Given the description of an element on the screen output the (x, y) to click on. 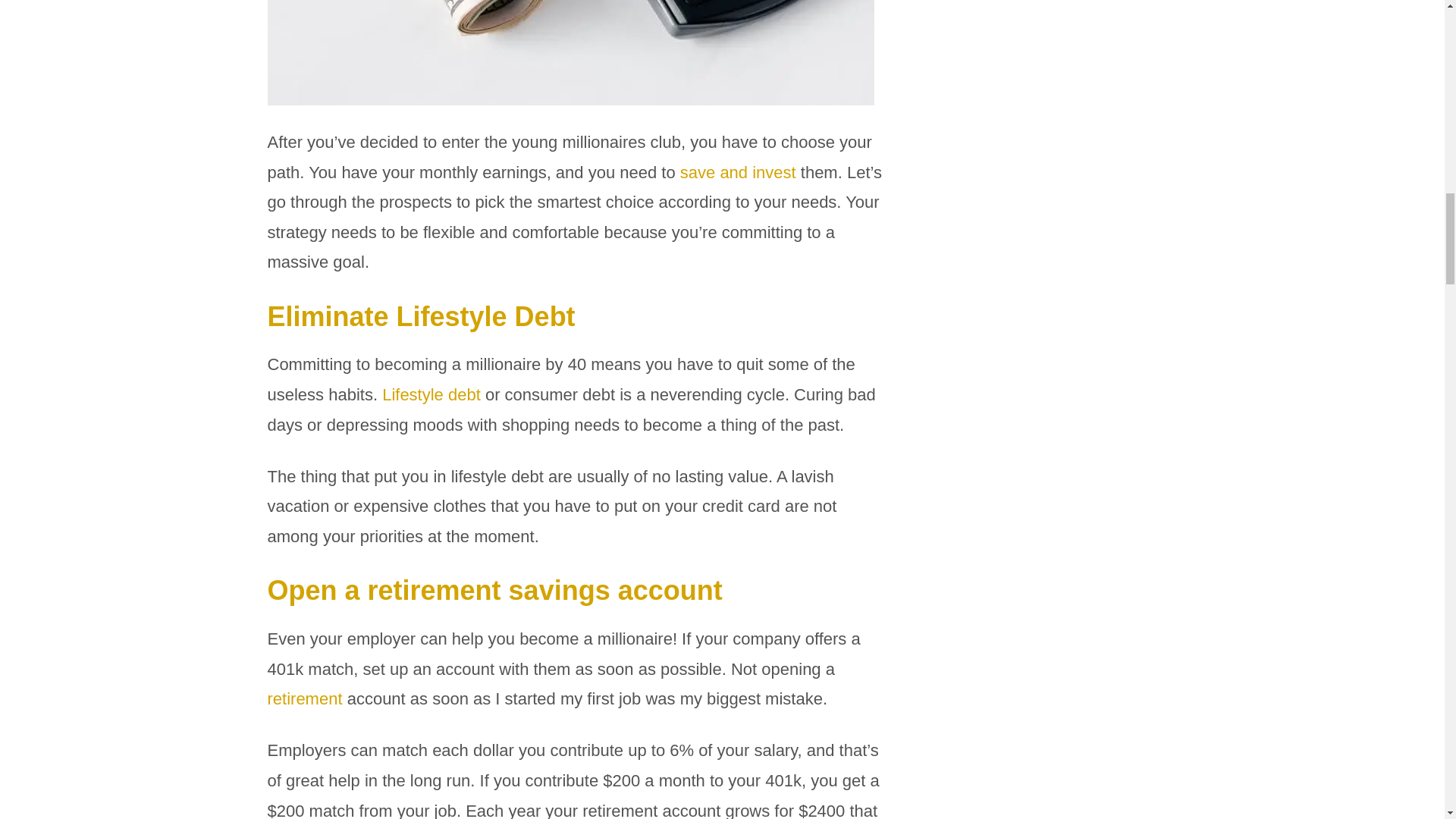
save and invest (737, 171)
Lifestyle debt (430, 394)
retirement (306, 698)
